Given the description of an element on the screen output the (x, y) to click on. 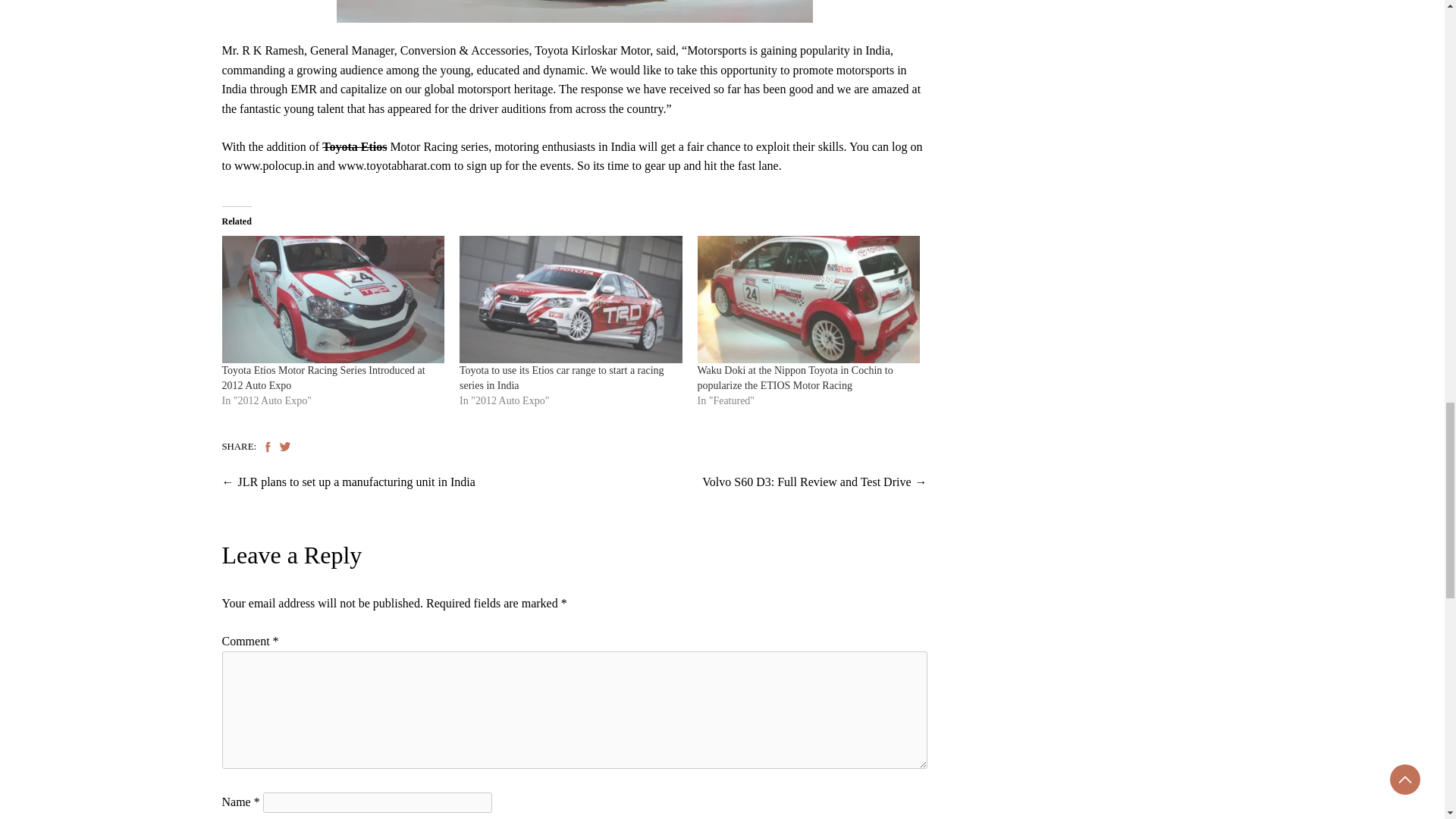
Volvo S60 D3: Full Review and Test Drive (806, 481)
JLR plans to set up a manufacturing unit in India (357, 481)
